Given the description of an element on the screen output the (x, y) to click on. 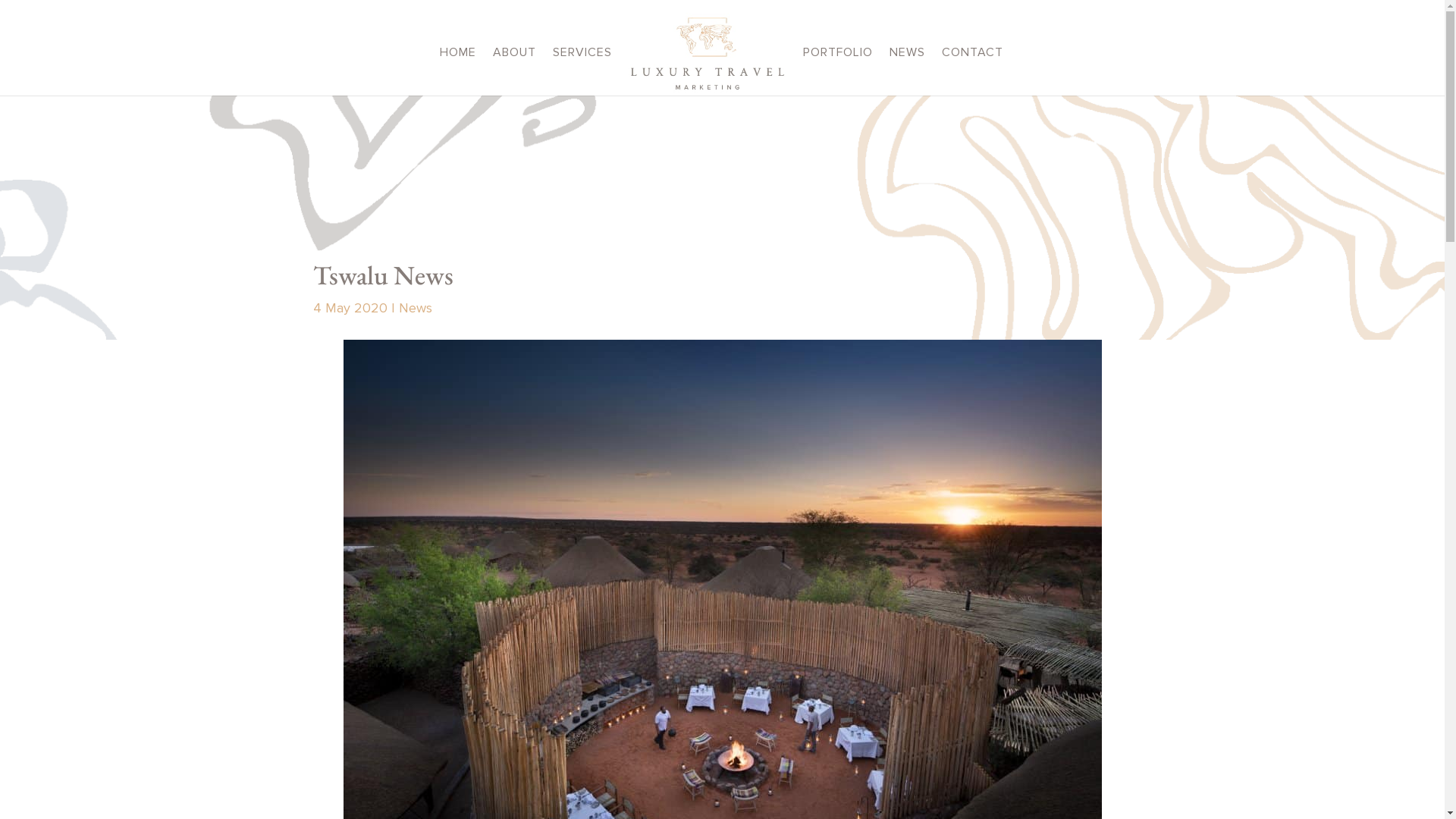
SERVICES Element type: text (581, 71)
PORTFOLIO Element type: text (837, 71)
CONTACT Element type: text (972, 71)
News Element type: text (415, 308)
ABOUT Element type: text (514, 71)
HOME Element type: text (457, 71)
NEWS Element type: text (907, 71)
